Given the description of an element on the screen output the (x, y) to click on. 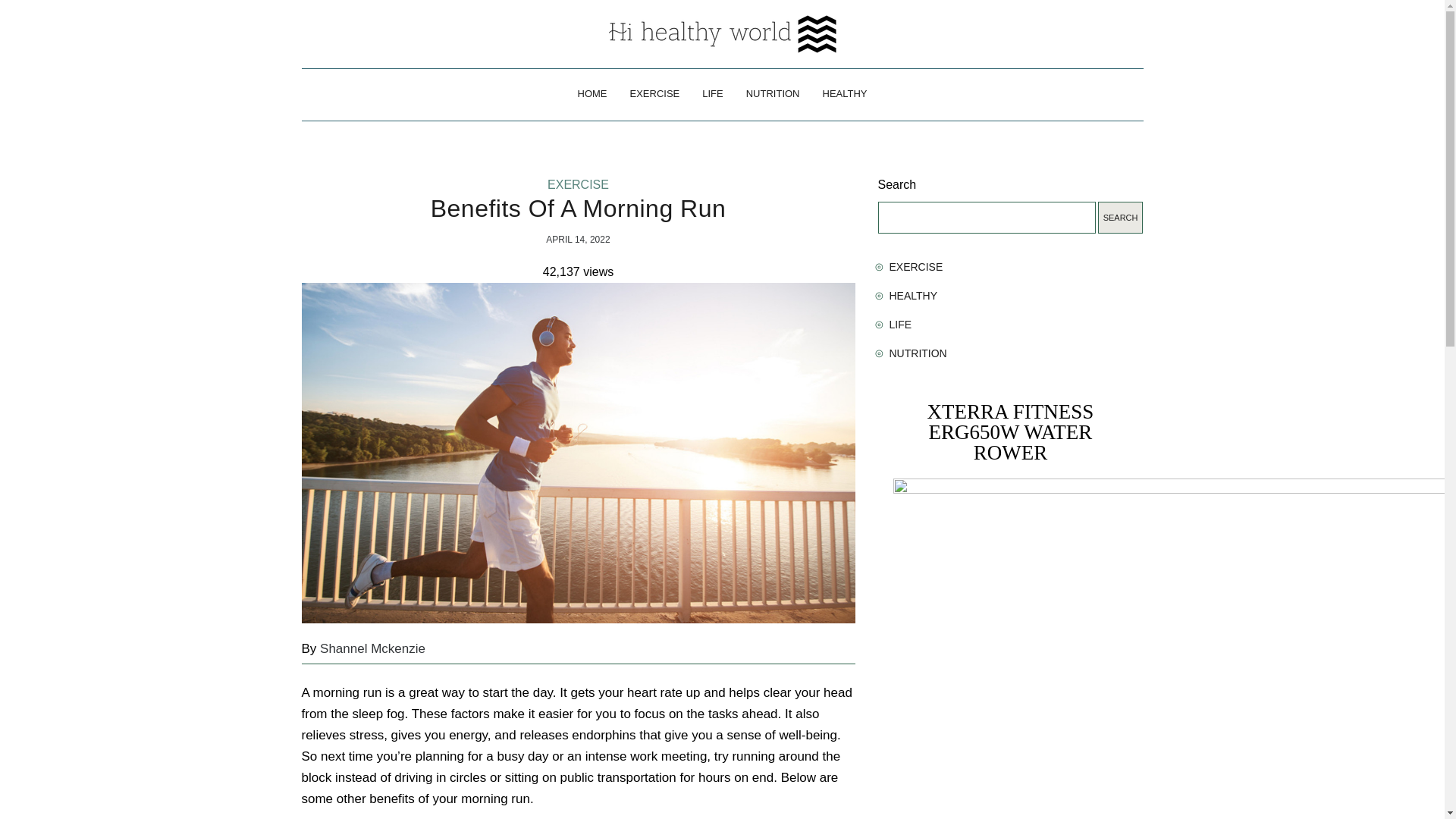
EXERCISE (577, 188)
EXERCISE (654, 94)
XTERRA FITNESS ERG650W WATER ROWER (1010, 432)
LIFE (711, 94)
HEALTHY (844, 94)
LIFE (899, 324)
EXERCISE (915, 266)
NUTRITION (917, 353)
APRIL 14, 2022 (578, 239)
HEALTHY (912, 295)
